Given the description of an element on the screen output the (x, y) to click on. 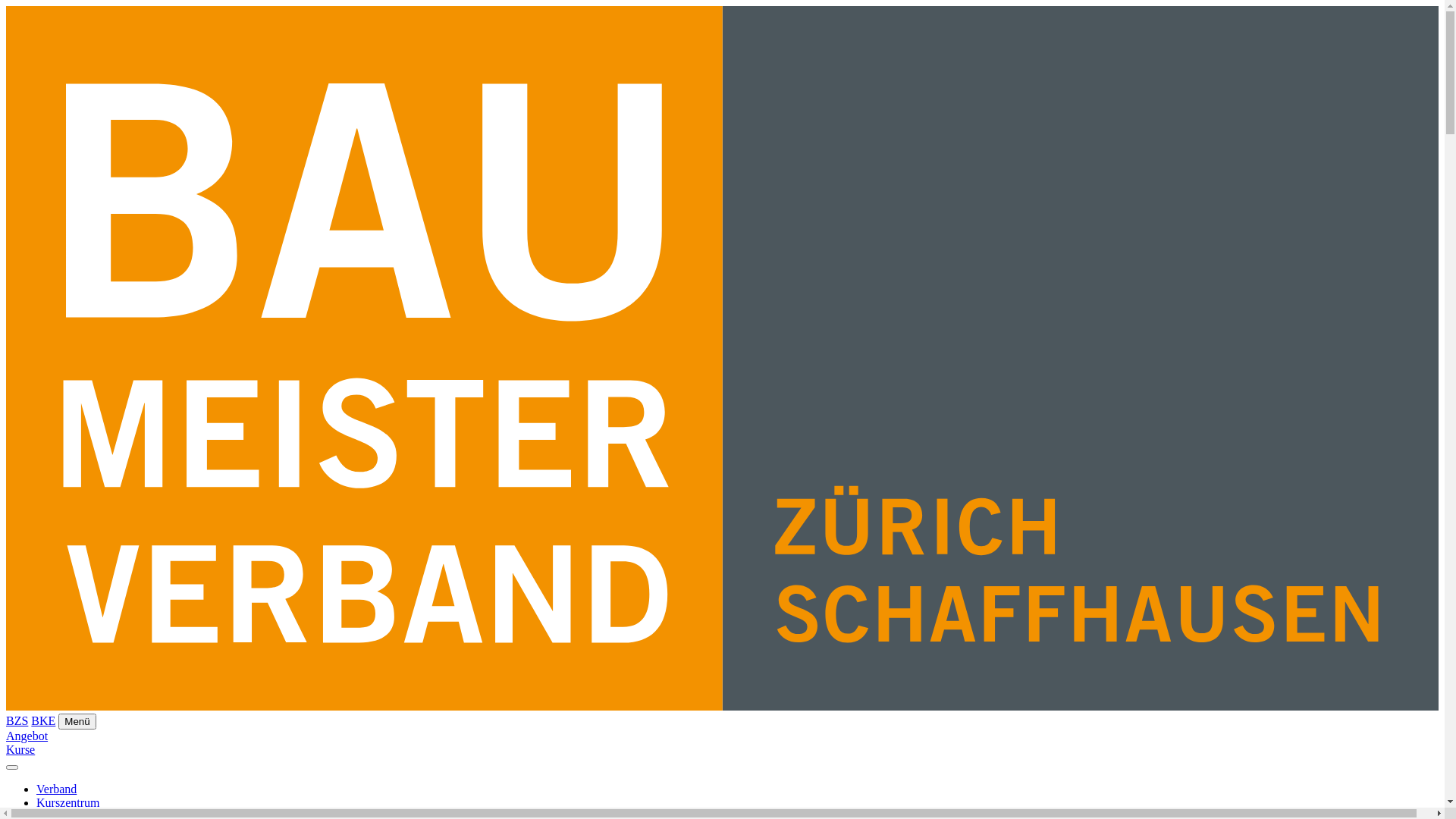
BKE Element type: text (43, 720)
Kurszentrum Element type: text (68, 802)
BZS Element type: text (17, 720)
Verband Element type: text (56, 788)
Angebot
Kurse Element type: text (722, 742)
